Given the description of an element on the screen output the (x, y) to click on. 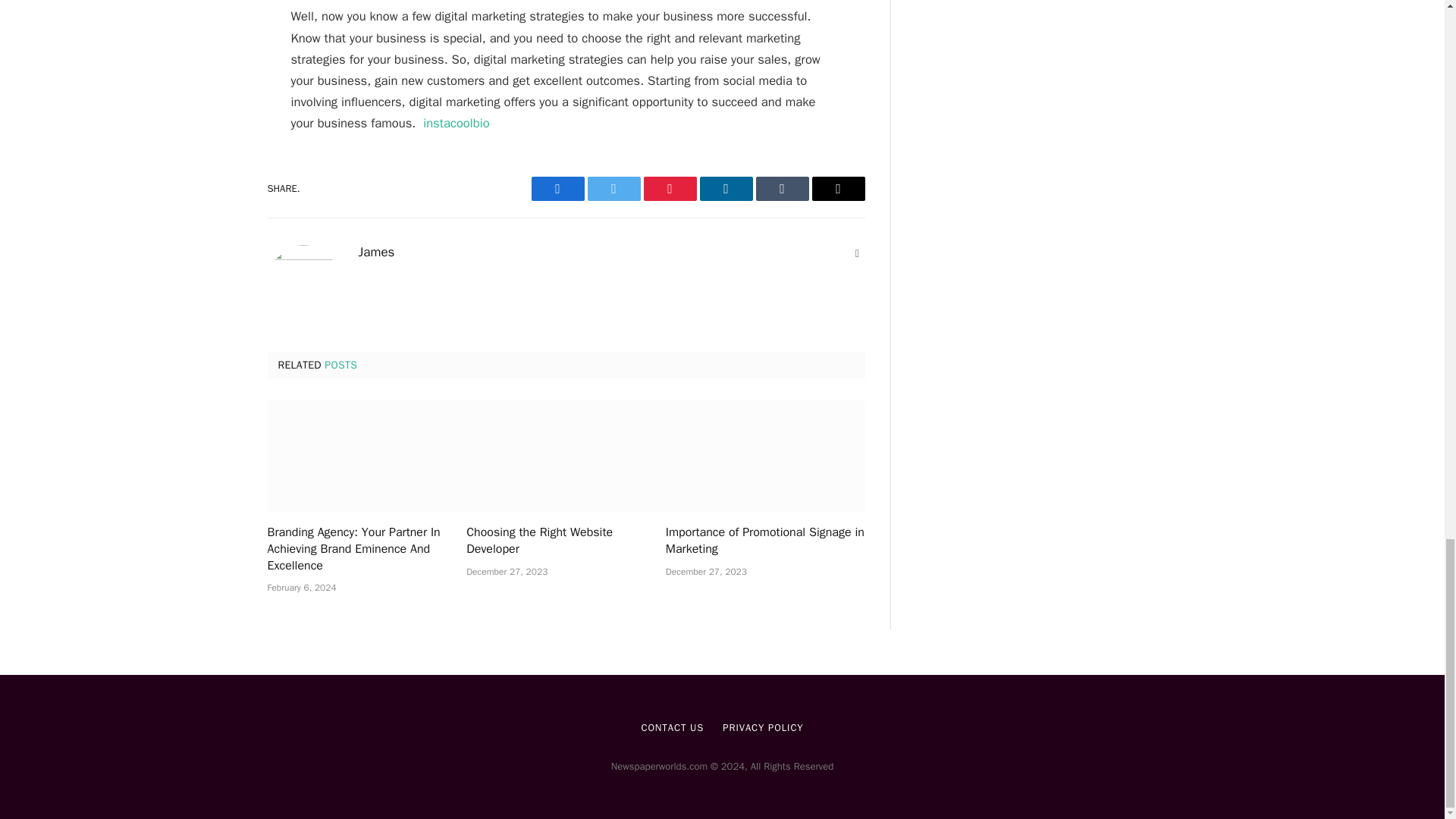
instacoolbio (456, 123)
